Given the description of an element on the screen output the (x, y) to click on. 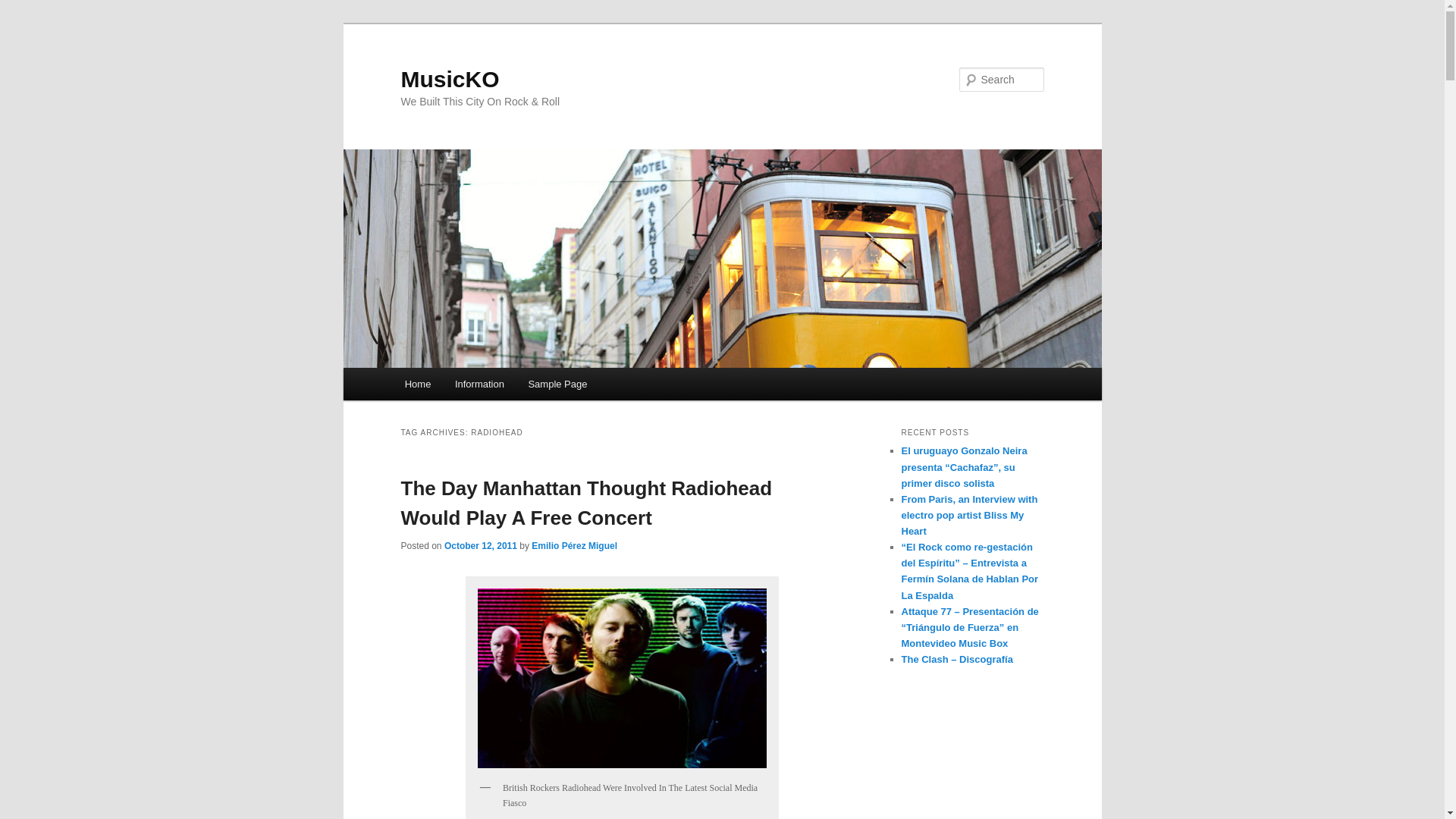
MusicKO (449, 78)
radiohead (621, 678)
Information (479, 383)
6:15 am (480, 545)
October 12, 2011 (480, 545)
Sample Page (557, 383)
Search (24, 8)
Home (417, 383)
